Given the description of an element on the screen output the (x, y) to click on. 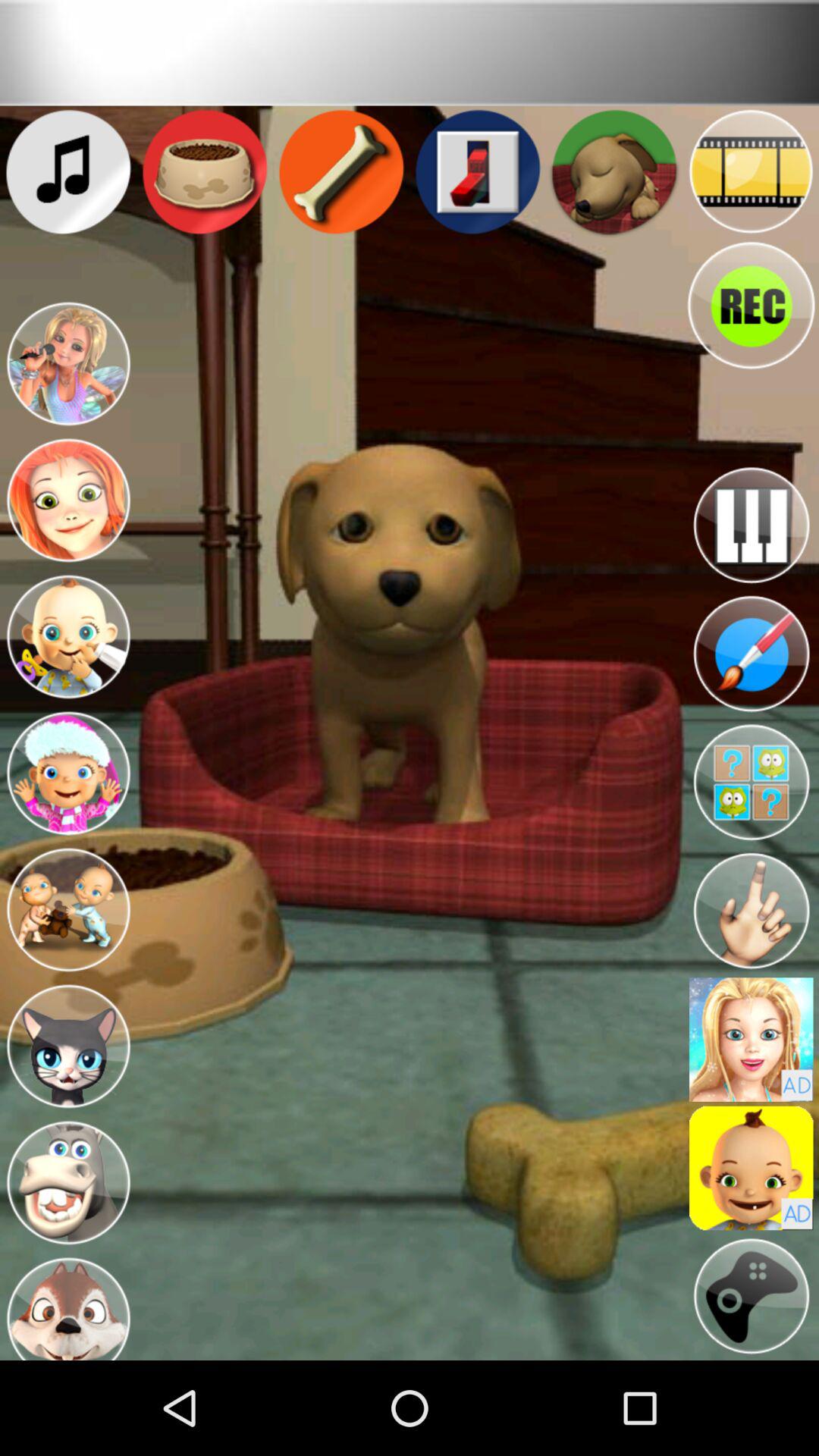
switch to hippo character (68, 1182)
